Given the description of an element on the screen output the (x, y) to click on. 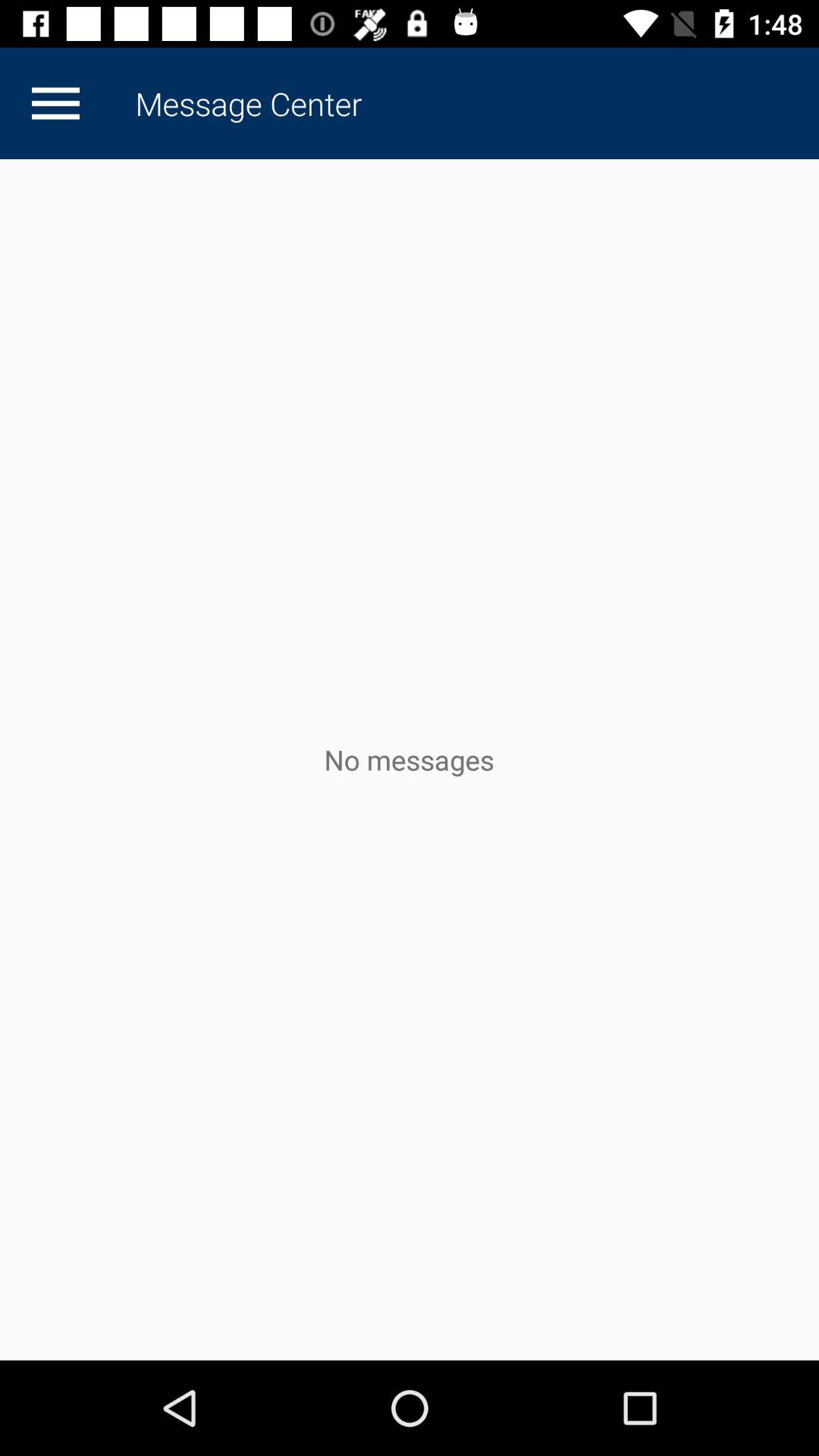
press item at the top left corner (55, 103)
